Given the description of an element on the screen output the (x, y) to click on. 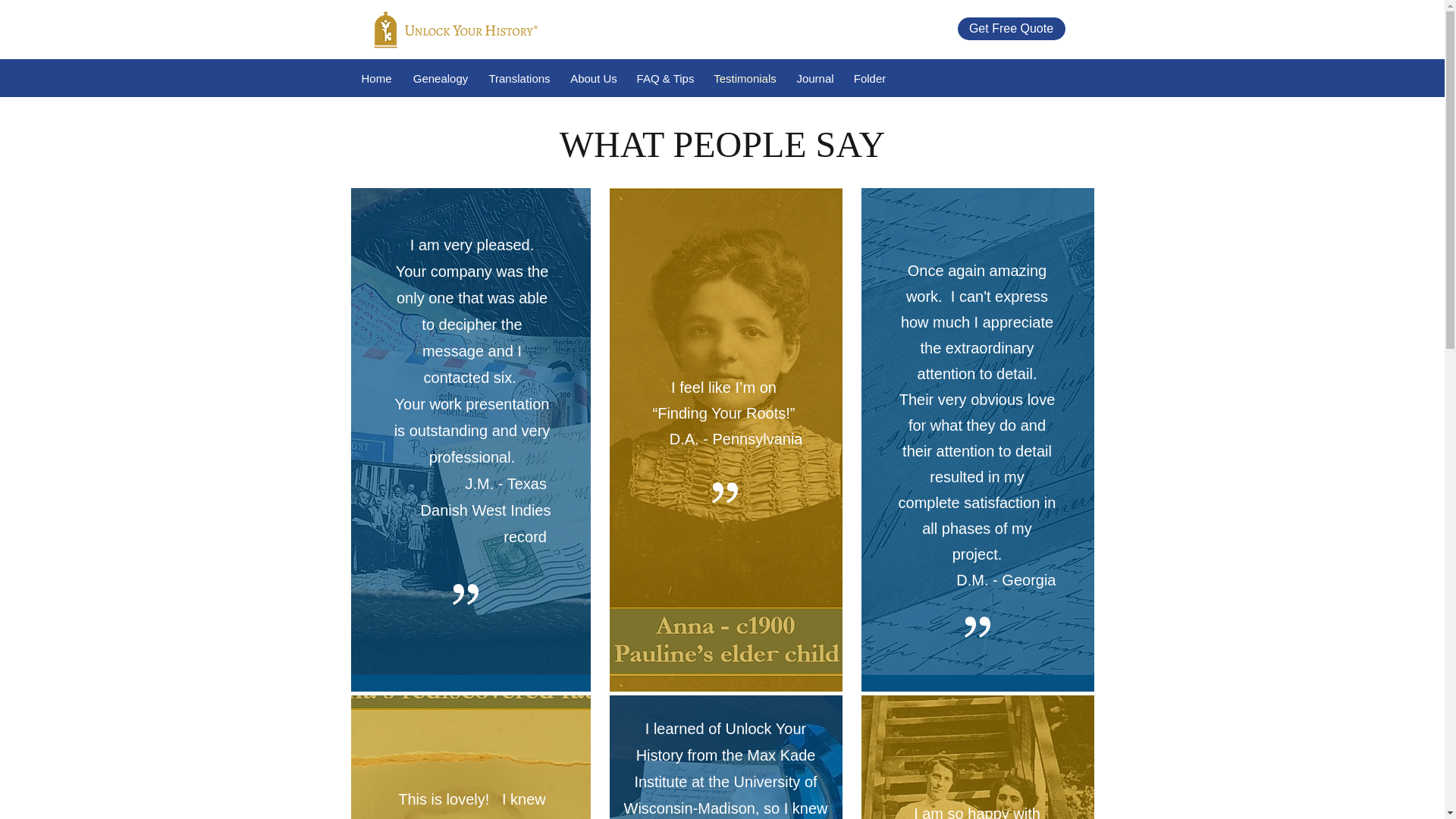
Translations (519, 78)
Home (375, 78)
Genealogy (440, 78)
Journal (815, 78)
About Us (593, 78)
Get Free Quote (1010, 28)
Testimonials (745, 78)
Logo: Unlock Your Hisory (451, 29)
